Given the description of an element on the screen output the (x, y) to click on. 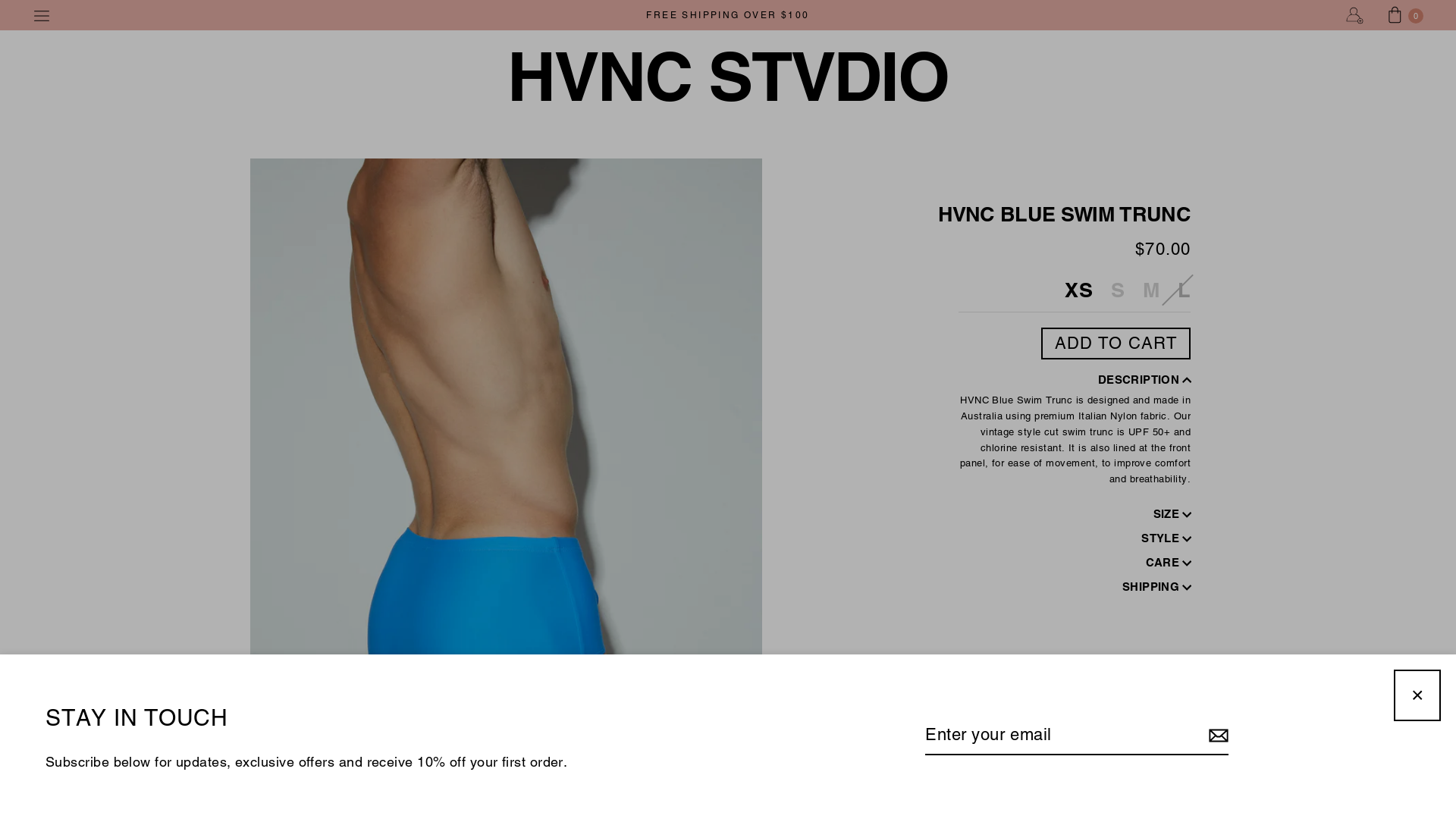
CLOSE (ESC) Element type: text (1416, 695)
HVNC STVDIO Element type: text (727, 76)
SHIPPING Element type: text (1070, 586)
0 Element type: text (1405, 14)
SIZE Element type: text (1070, 514)
ADD TO CART Element type: text (1115, 343)
Skip to content Element type: text (0, 0)
STYLE Element type: text (1070, 538)
CARE Element type: text (1070, 562)
Subscribe Element type: hover (1216, 735)
DESCRIPTION Element type: text (1070, 379)
